Given the description of an element on the screen output the (x, y) to click on. 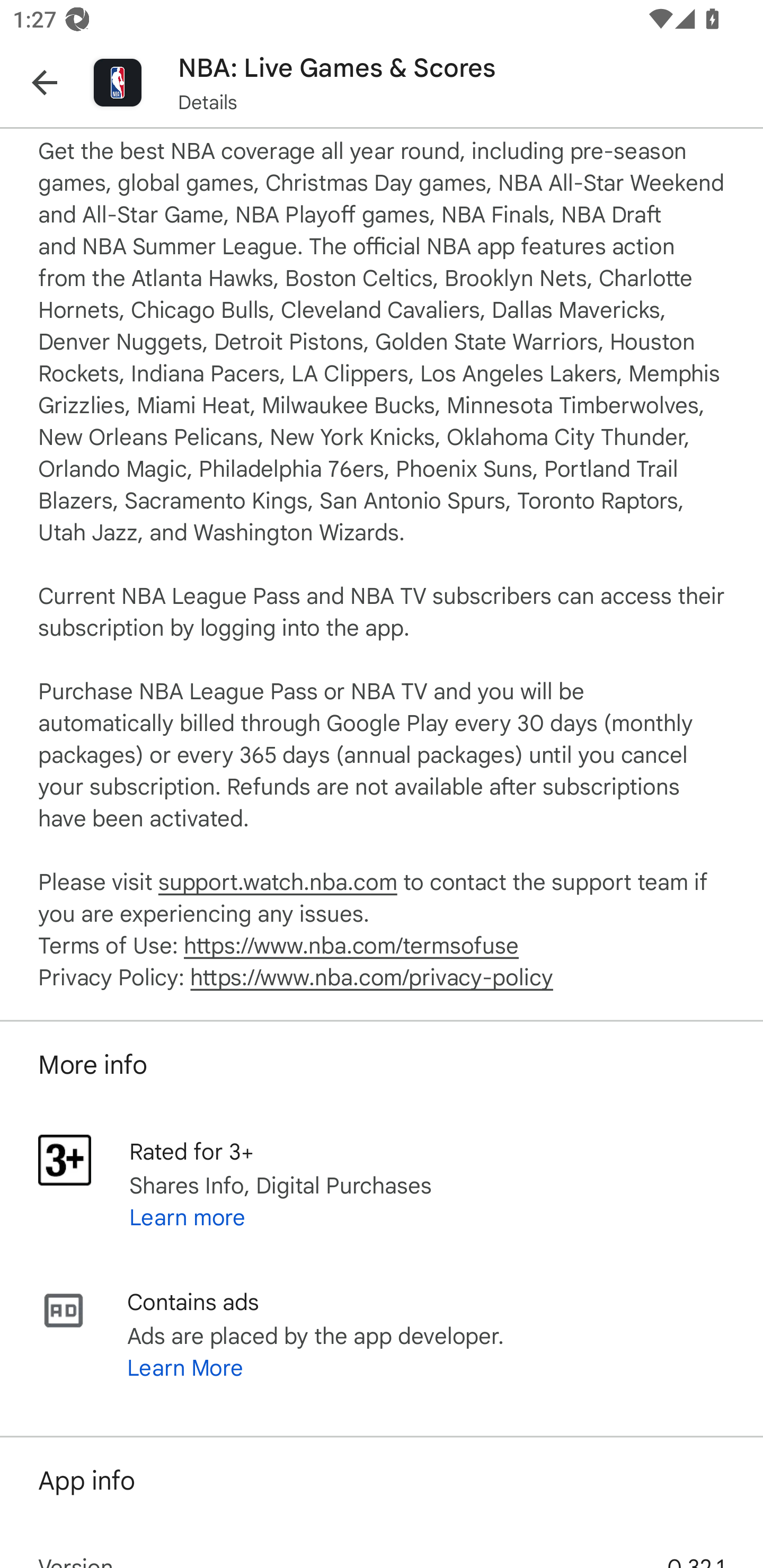
Navigate up (44, 82)
